Given the description of an element on the screen output the (x, y) to click on. 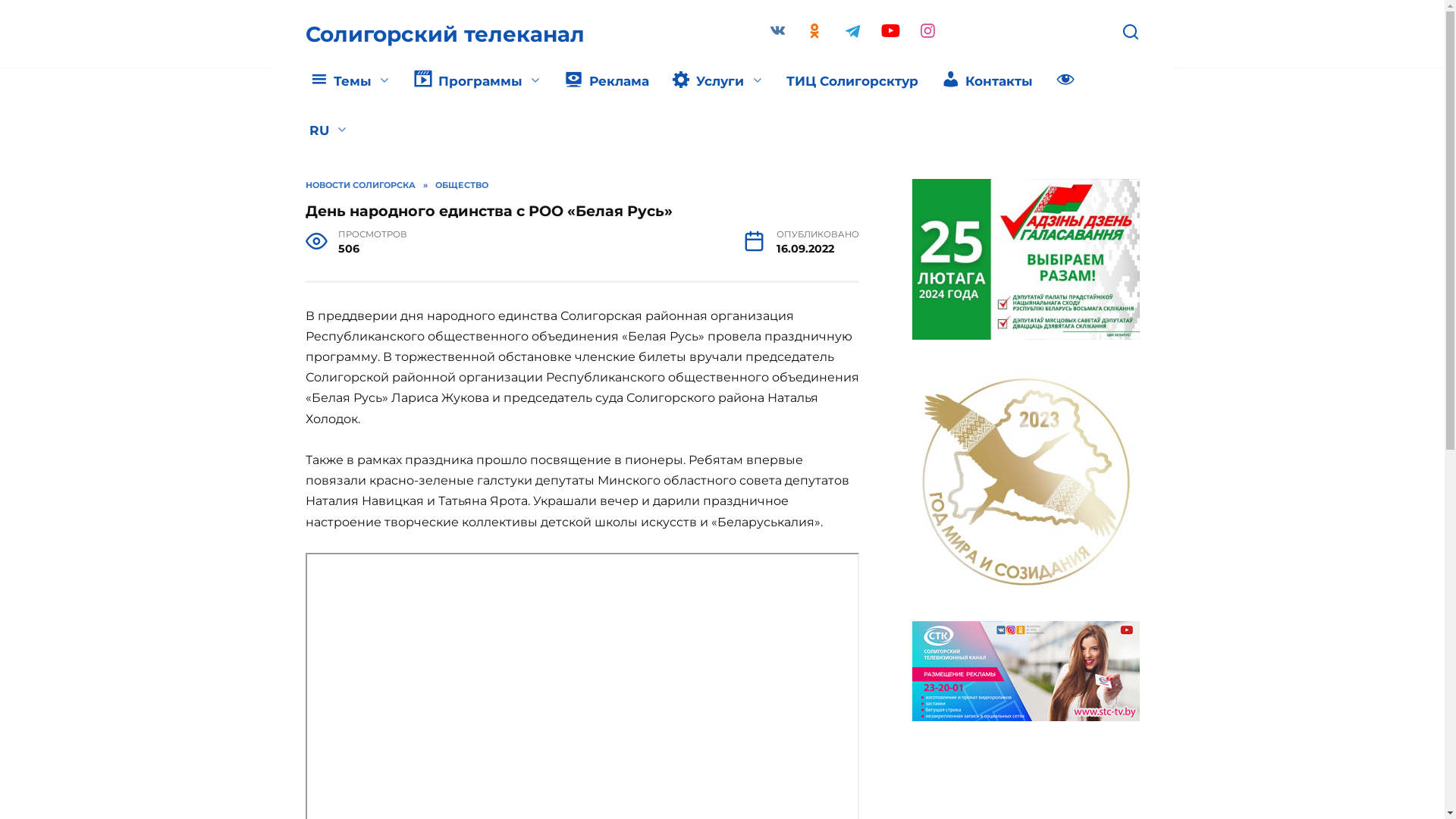
RU Element type: text (328, 131)
